Given the description of an element on the screen output the (x, y) to click on. 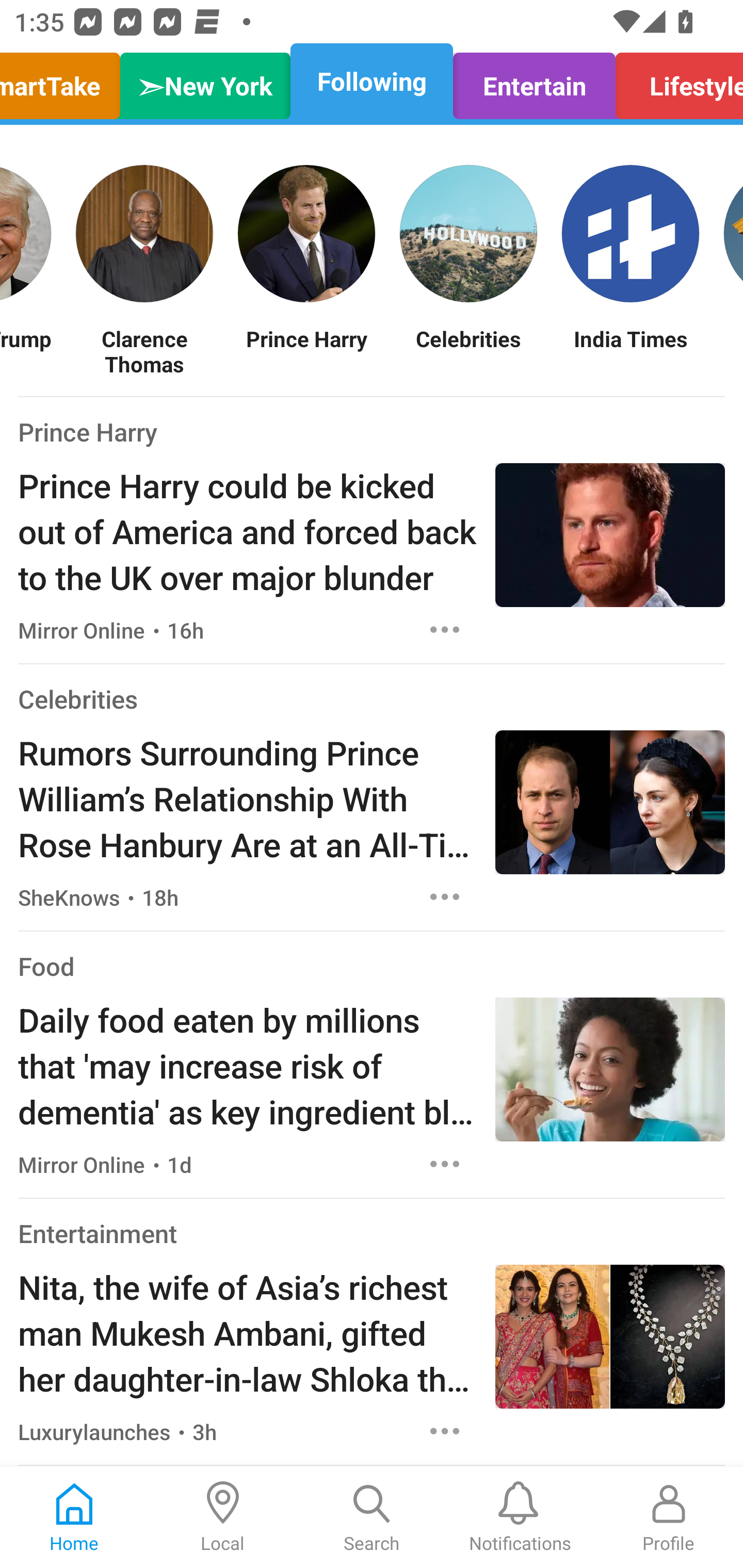
SmartTake (65, 81)
➣New York (205, 81)
Following (371, 81)
Entertain (534, 81)
Clarence Thomas (144, 350)
Prince Harry (306, 350)
Celebrities (468, 350)
India Times (629, 350)
Prince Harry (87, 430)
Options (444, 629)
Celebrities (77, 699)
Options (444, 896)
Food (46, 965)
Options (444, 1164)
Entertainment (97, 1232)
Options (444, 1431)
Local (222, 1517)
Search (371, 1517)
Notifications (519, 1517)
Profile (668, 1517)
